Given the description of an element on the screen output the (x, y) to click on. 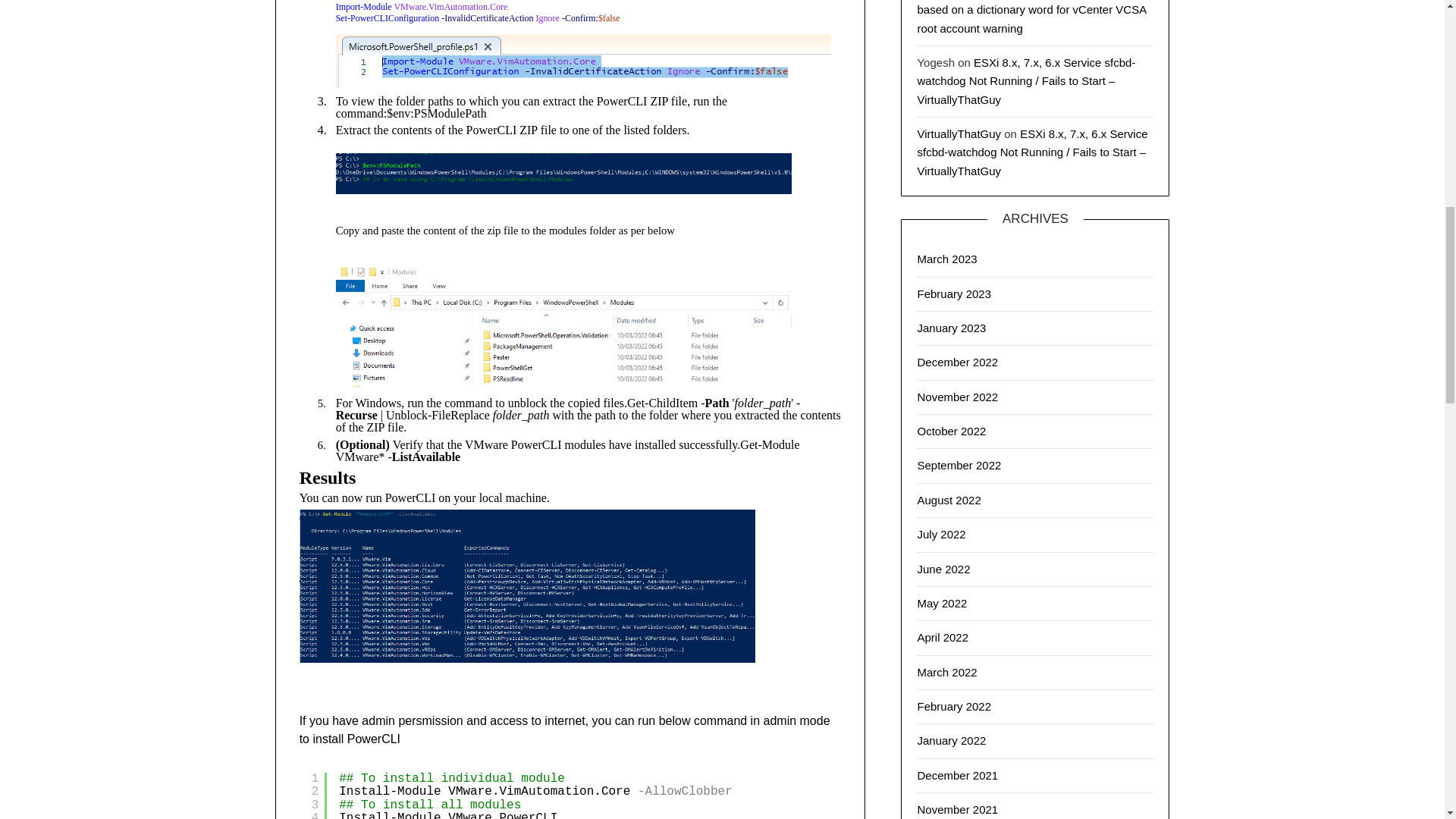
June 2022 (943, 568)
VirtuallyThatGuy (959, 133)
September 2022 (959, 464)
July 2022 (941, 533)
March 2023 (946, 258)
December 2022 (957, 361)
August 2022 (948, 499)
November 2022 (957, 396)
February 2023 (954, 292)
January 2023 (951, 327)
October 2022 (951, 431)
